Given the description of an element on the screen output the (x, y) to click on. 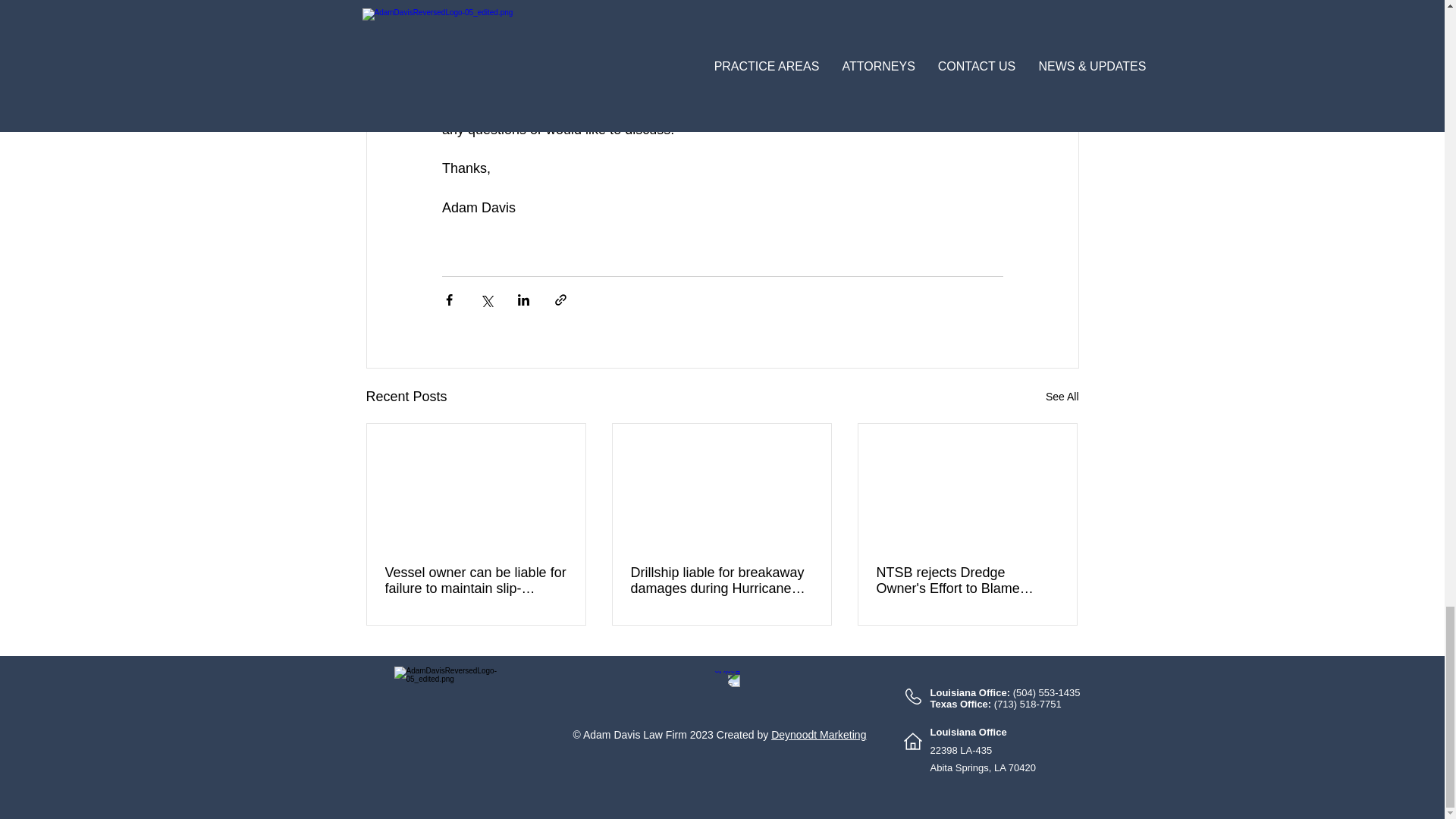
Deynoodt Marketing (818, 734)
See All (1061, 396)
